Given the description of an element on the screen output the (x, y) to click on. 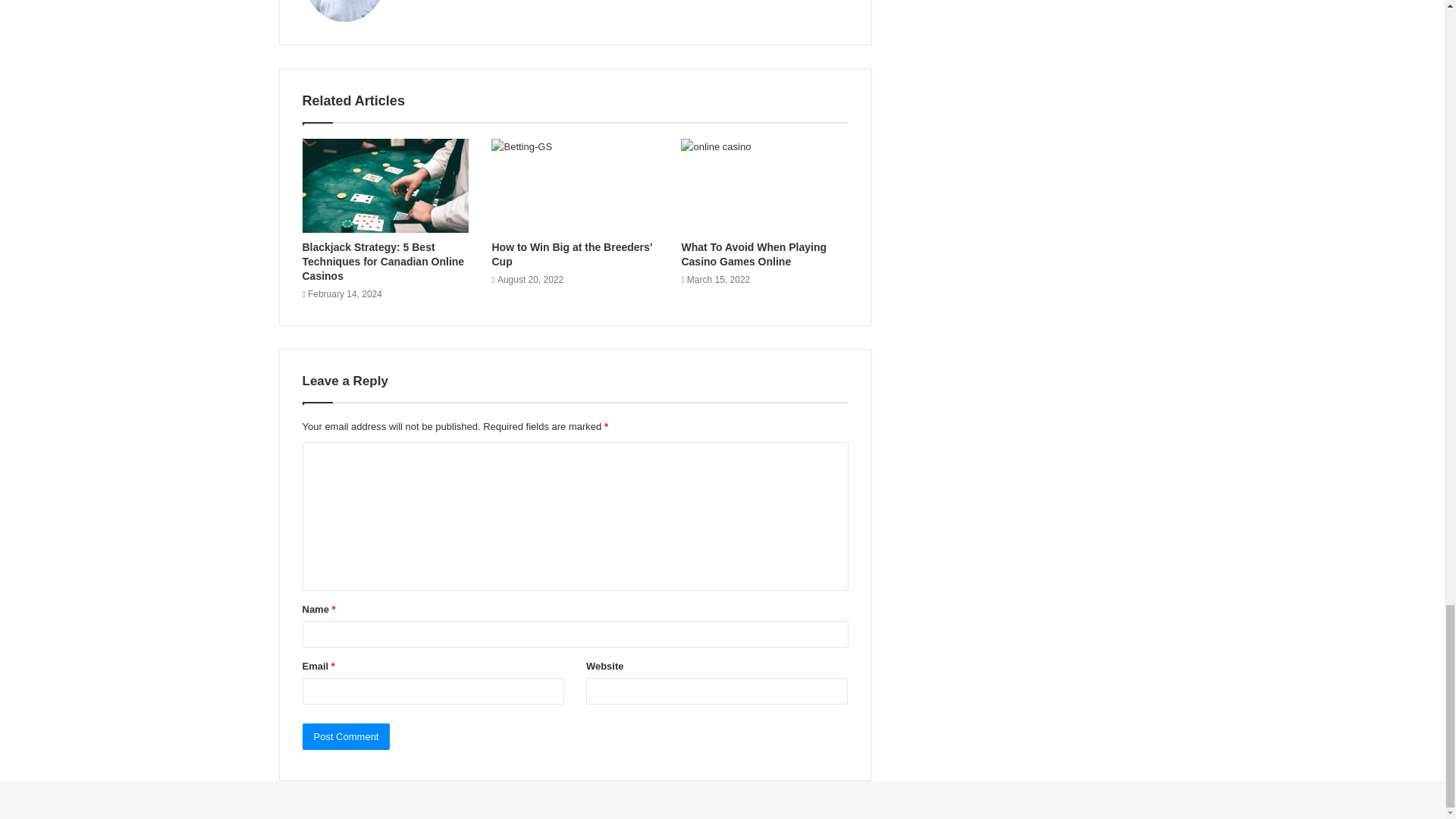
Post Comment (345, 736)
